Given the description of an element on the screen output the (x, y) to click on. 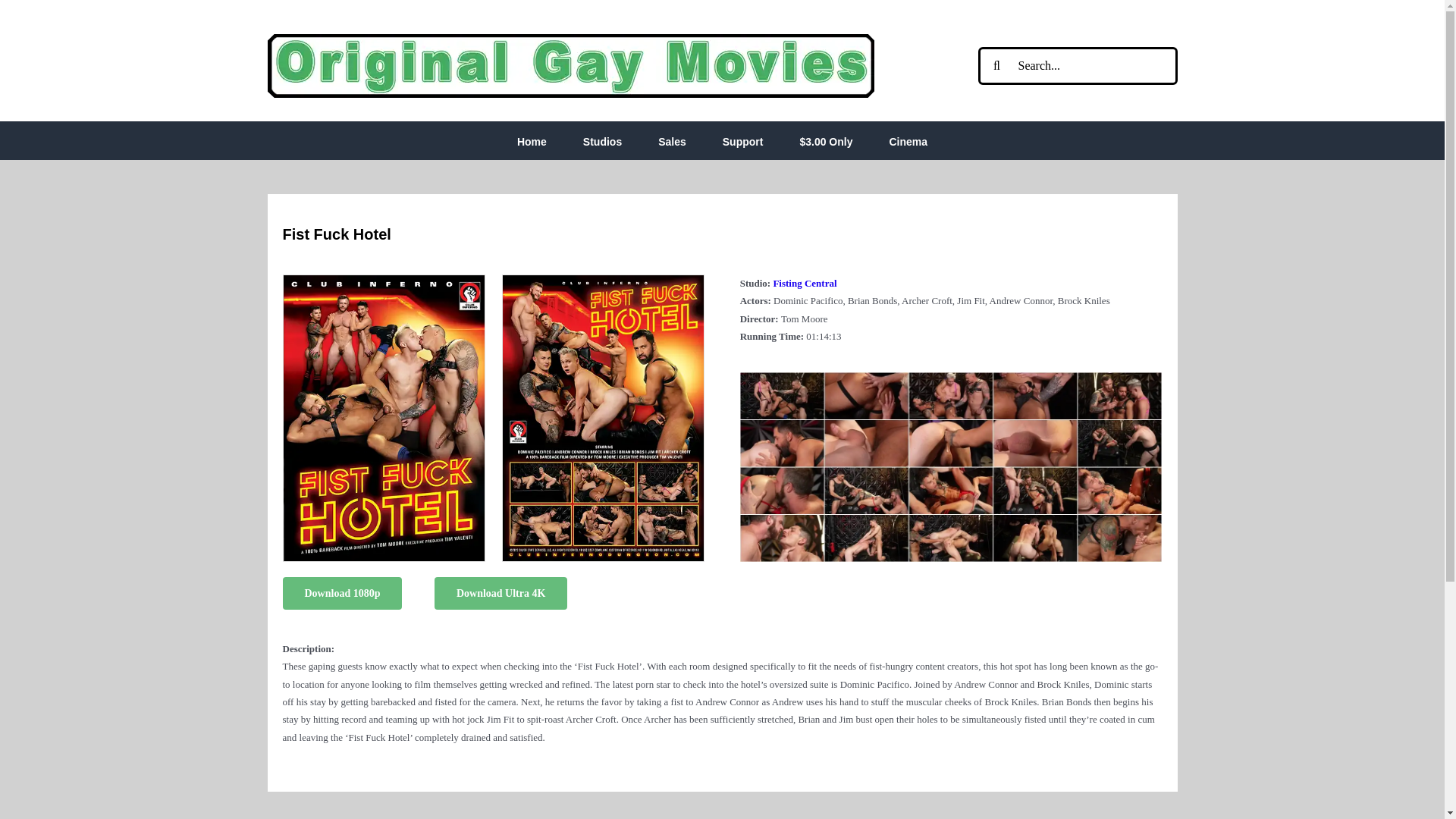
Fist Fuck Hotel (383, 279)
Fist Fuck Hotel (950, 377)
Studios (602, 139)
Cinema (907, 139)
Download 1080p (341, 593)
Support (742, 139)
Download Ultra 4K (500, 593)
Fist Fuck Hotel (602, 279)
